Given the description of an element on the screen output the (x, y) to click on. 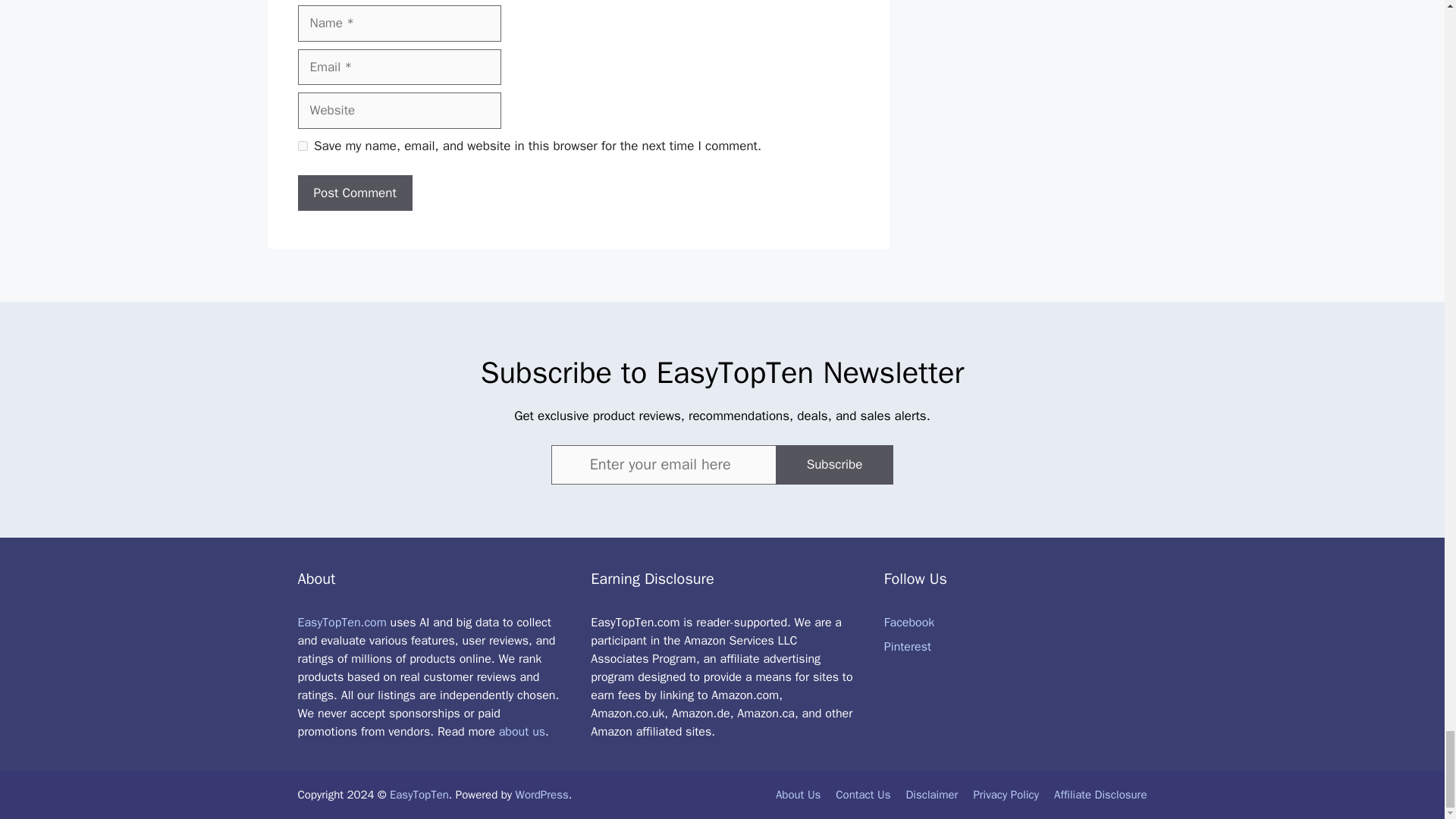
Post Comment (354, 193)
about us (521, 731)
Subscribe (834, 464)
EasyTopTen.com (341, 622)
yes (302, 145)
Post Comment (354, 193)
Subscribe (834, 464)
